Given the description of an element on the screen output the (x, y) to click on. 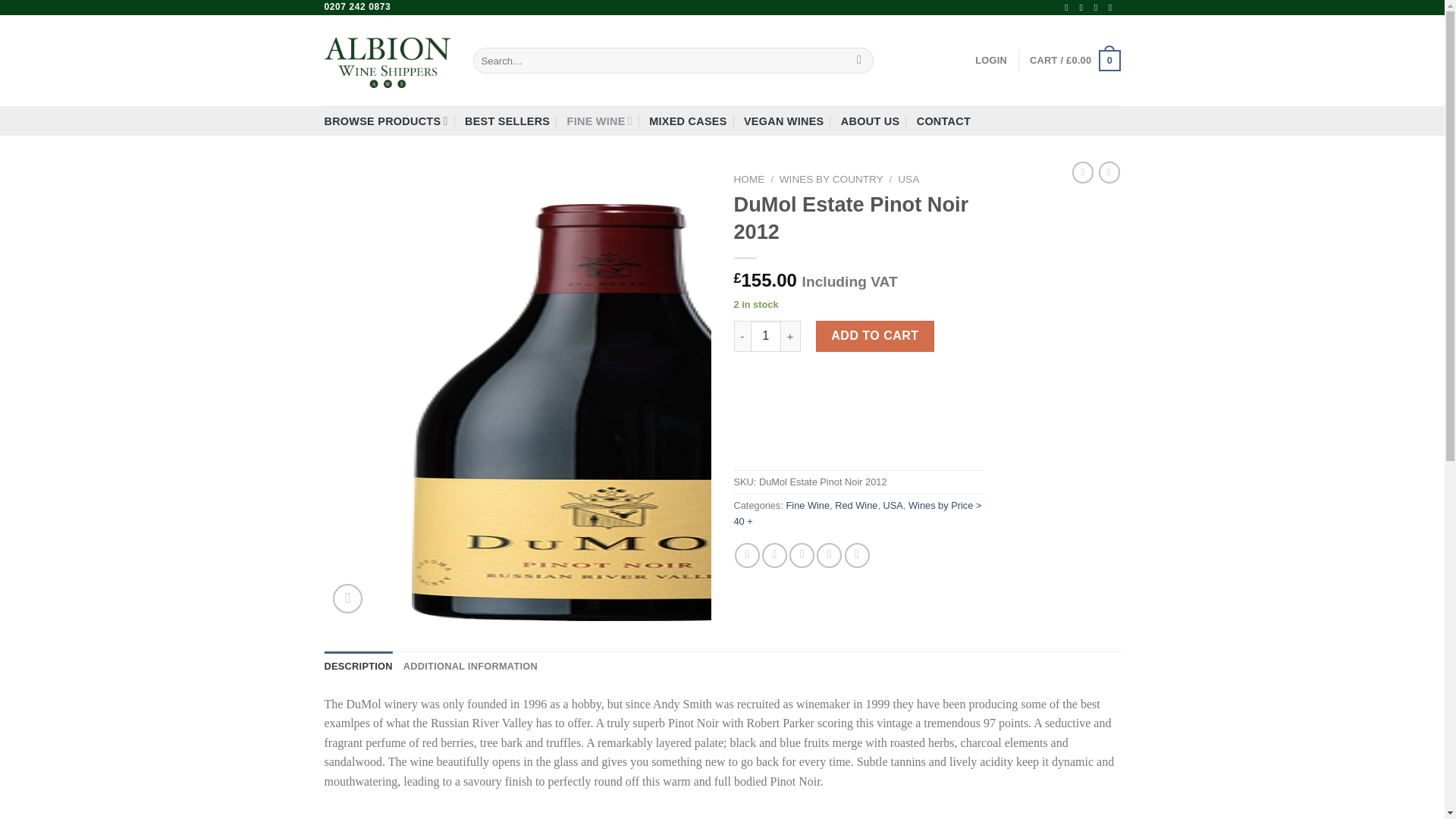
PayPal Message 1 (858, 393)
Email to a Friend (801, 555)
Albion Wine Shippers - The Best Wines for Any Occasion (386, 59)
BROWSE PRODUCTS (386, 120)
LOGIN (991, 60)
1 (765, 336)
Share on Twitter (774, 555)
Zoom (347, 598)
Cart (1074, 60)
Share on Facebook (747, 555)
Search (859, 60)
Qty (765, 336)
PayPal (858, 438)
